Given the description of an element on the screen output the (x, y) to click on. 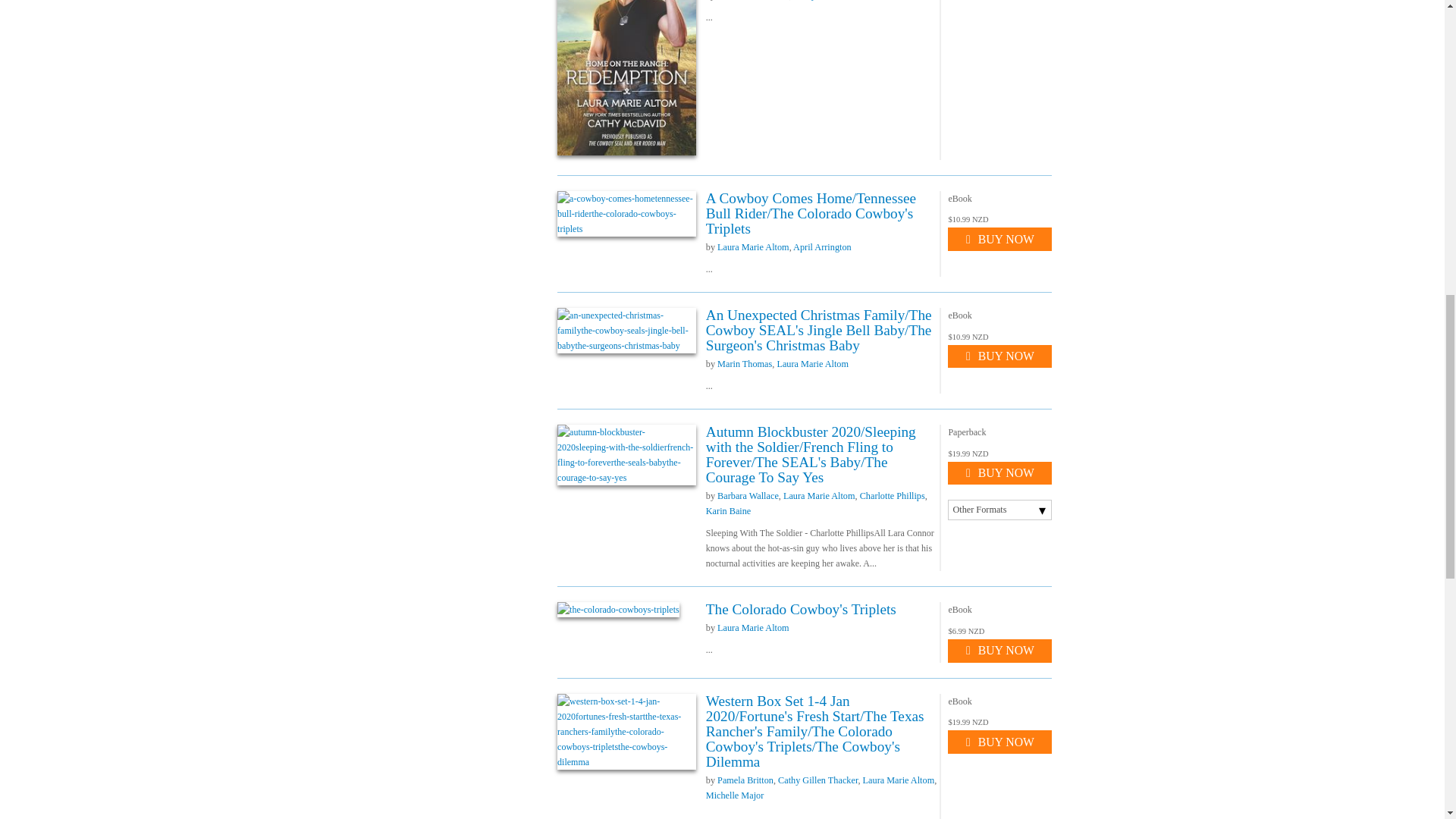
Buy Now (999, 473)
Buy Now (999, 741)
Buy Now (999, 356)
Buy Now (999, 650)
Buy Now (999, 238)
